Given the description of an element on the screen output the (x, y) to click on. 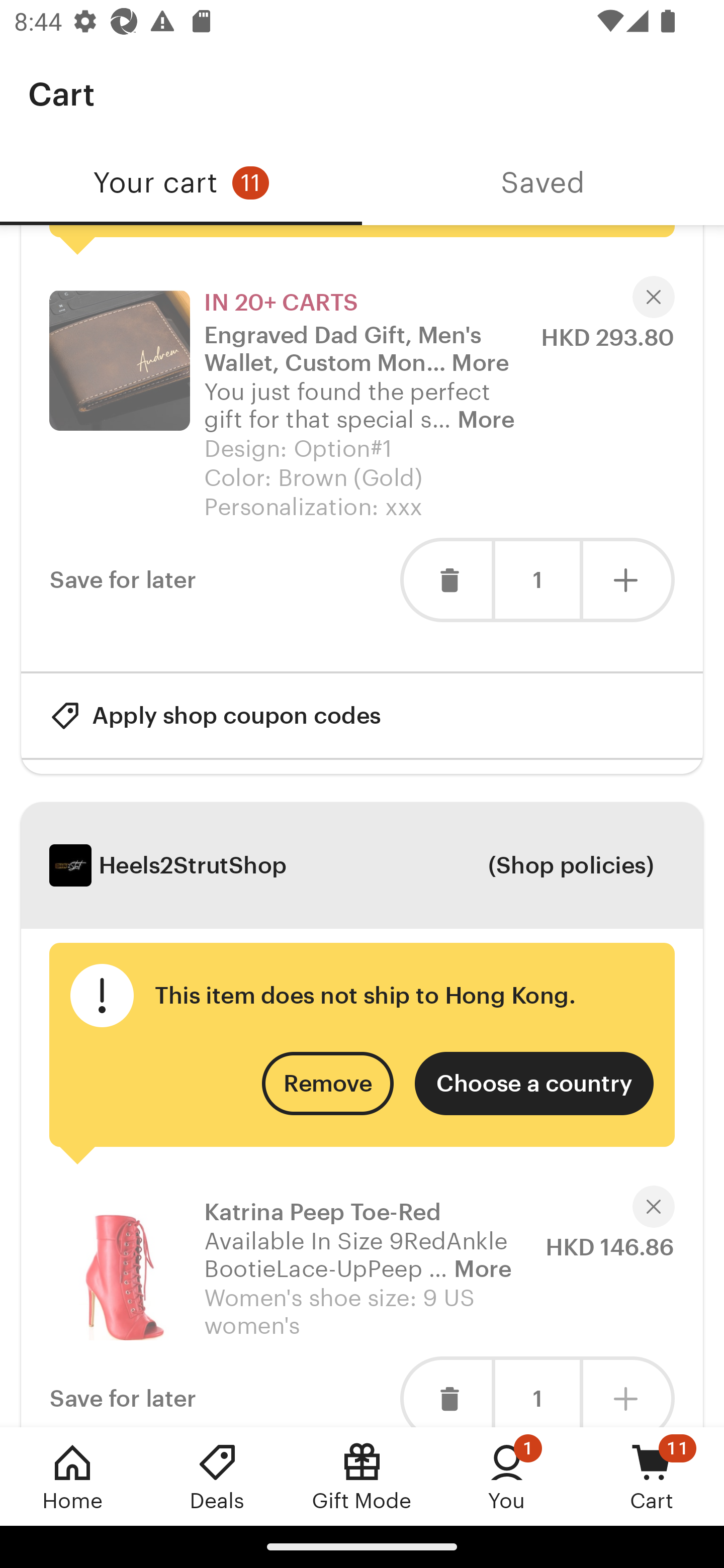
Saved, tab 2 of 2 Saved (543, 183)
Apply shop coupon codes (215, 714)
Heels2StrutShop (Shop policies) (361, 865)
(Shop policies) (570, 865)
Remove (327, 1083)
Choose a country (533, 1083)
Home (72, 1475)
Deals (216, 1475)
Gift Mode (361, 1475)
You, 1 new notification You (506, 1475)
